Given the description of an element on the screen output the (x, y) to click on. 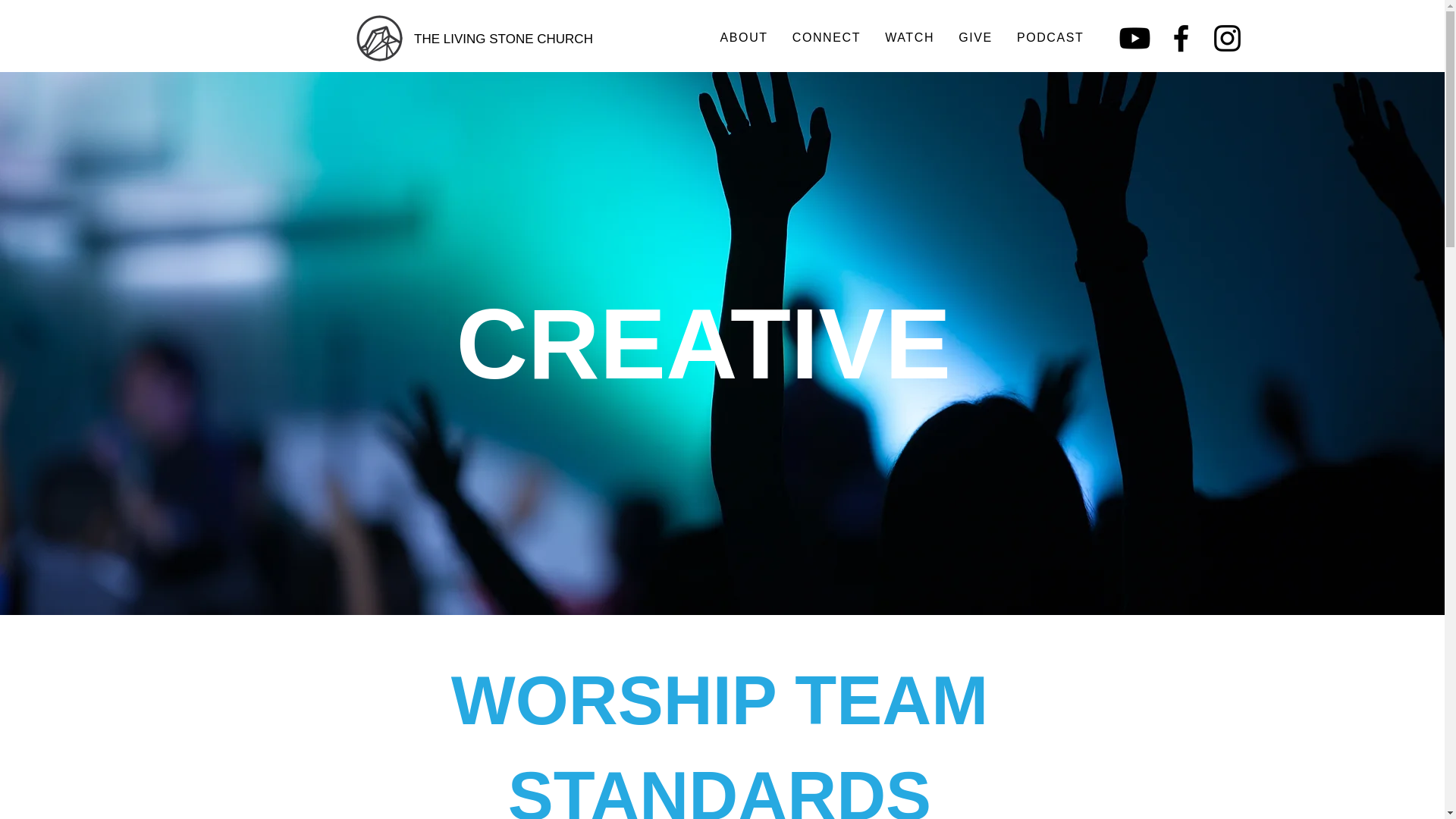
THE LIVING STONE CHURCH (503, 38)
GIVE (975, 38)
PODCAST (1050, 38)
WATCH (909, 38)
